Given the description of an element on the screen output the (x, y) to click on. 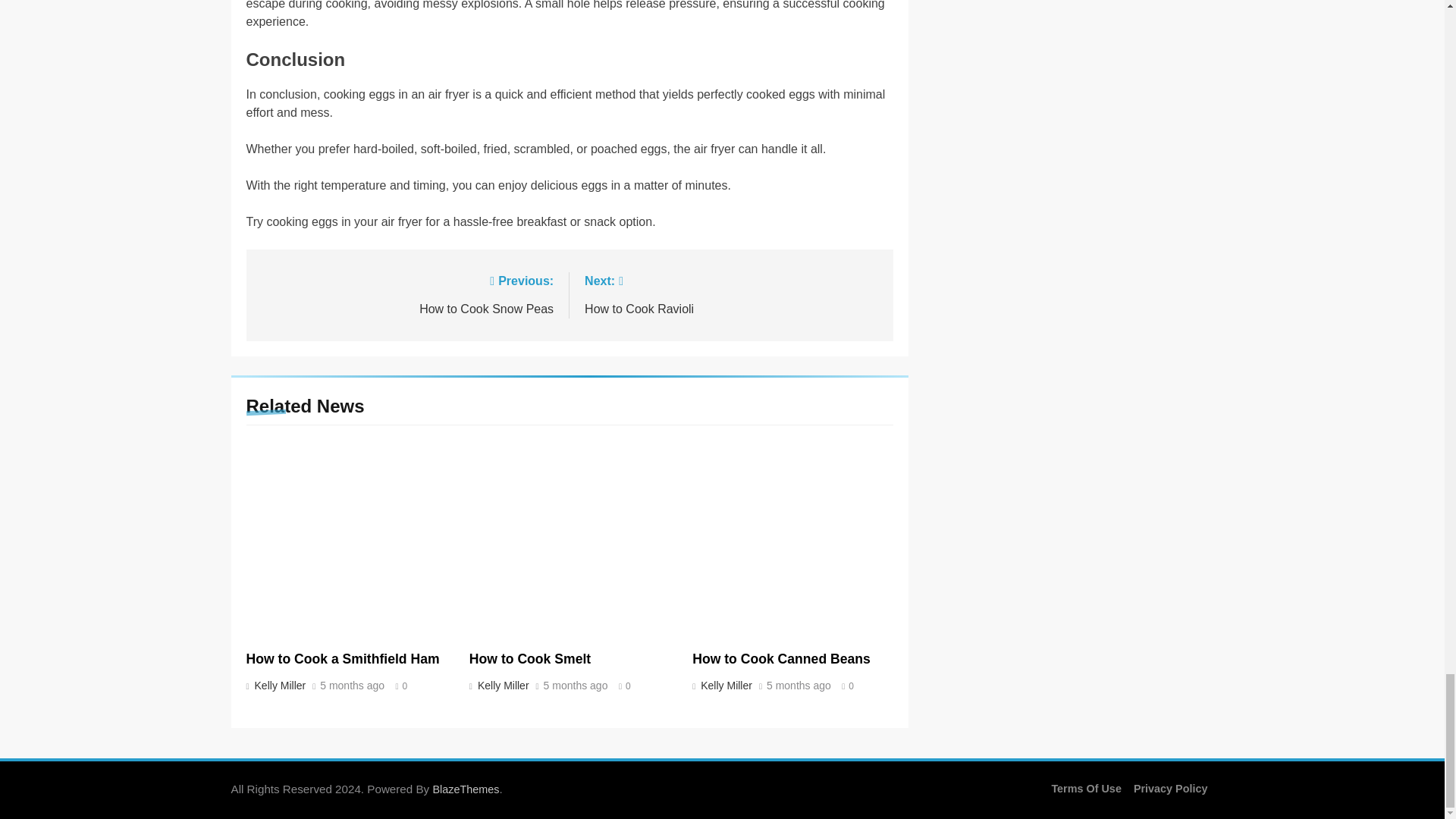
How to Cook a Smithfield Ham (342, 658)
Kelly Miller (731, 293)
How to Cook Smelt (406, 293)
BlazeThemes (501, 685)
5 months ago (529, 658)
Terms Of Use (465, 788)
Kelly Miller (799, 685)
How to Cook Canned Beans (1086, 788)
Kelly Miller (725, 685)
5 months ago (781, 658)
5 months ago (278, 685)
Privacy Policy (352, 685)
